Given the description of an element on the screen output the (x, y) to click on. 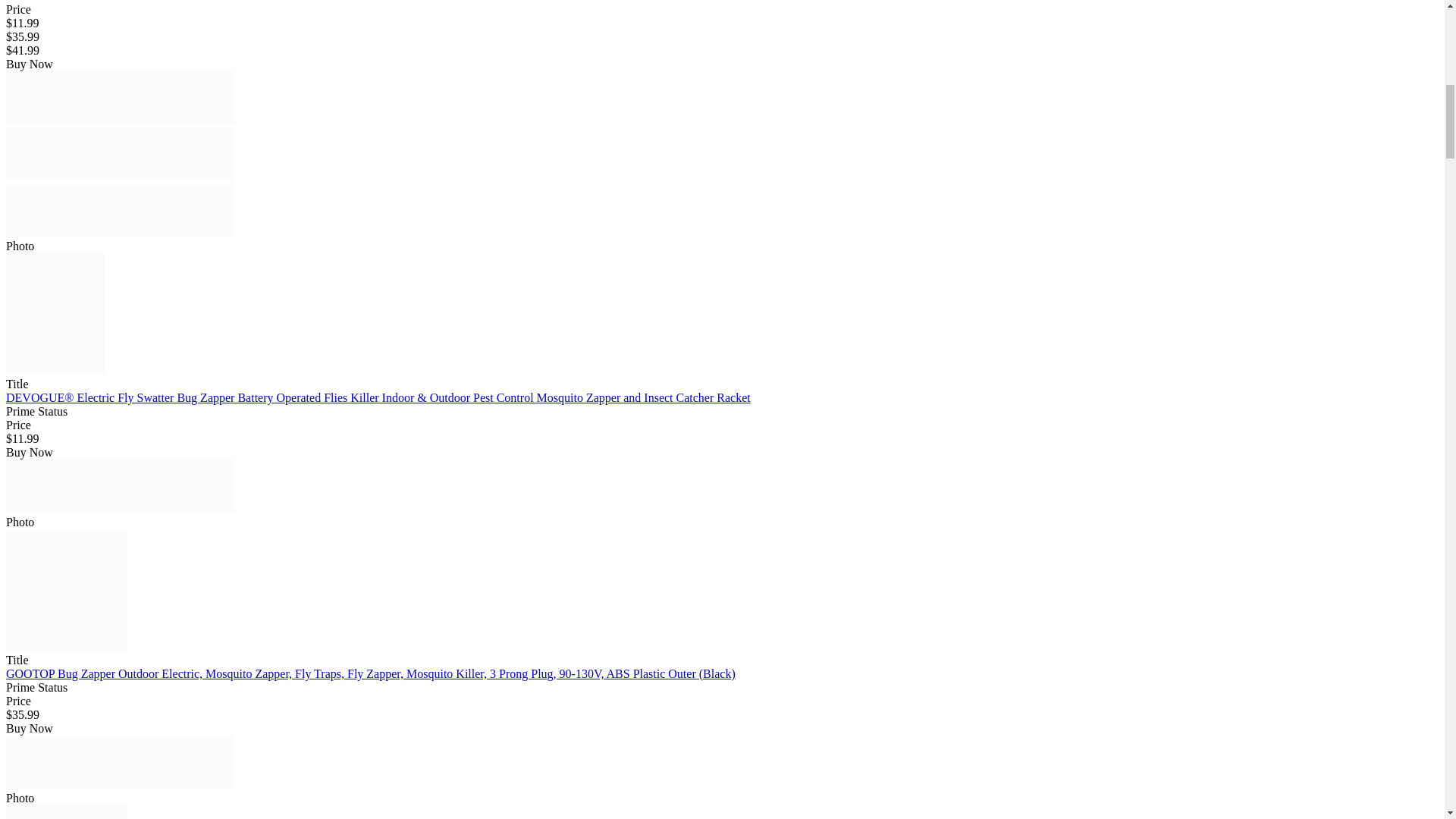
Buy On Amazon (119, 153)
Buy On Amazon (119, 209)
Buy On Amazon (119, 485)
Buy On Amazon (119, 761)
Buy On Amazon (119, 97)
